Given the description of an element on the screen output the (x, y) to click on. 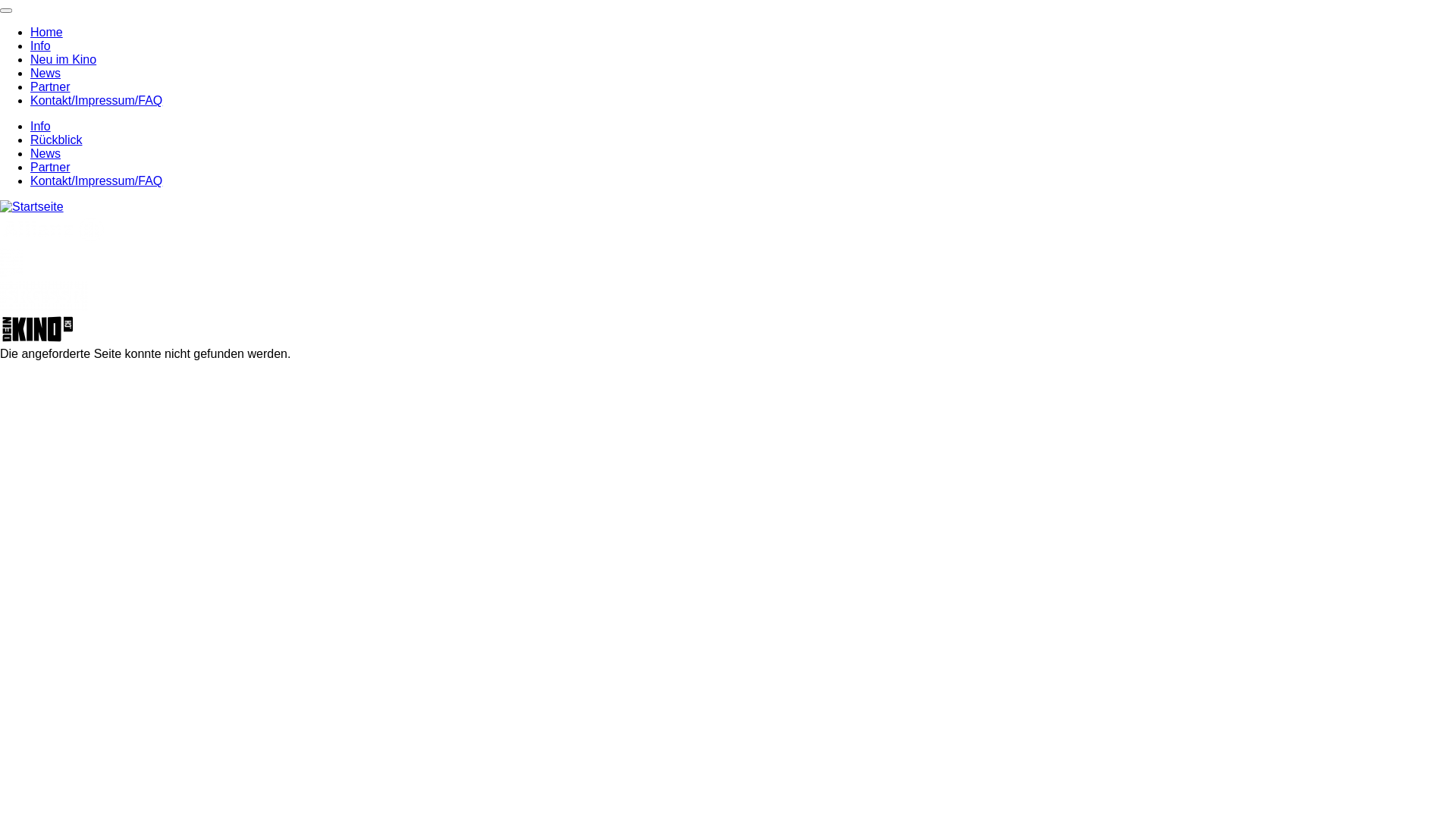
News Element type: text (45, 153)
Direkt zum Inhalt Element type: text (0, 0)
Info Element type: text (40, 125)
Partner Element type: text (49, 166)
Info Element type: text (40, 45)
Neu im Kino Element type: text (63, 59)
Kontakt/Impressum/FAQ Element type: text (96, 100)
Home Element type: text (46, 31)
Startseite Element type: hover (31, 206)
Kontakt/Impressum/FAQ Element type: text (96, 180)
News Element type: text (45, 72)
Partner Element type: text (49, 86)
